Given the description of an element on the screen output the (x, y) to click on. 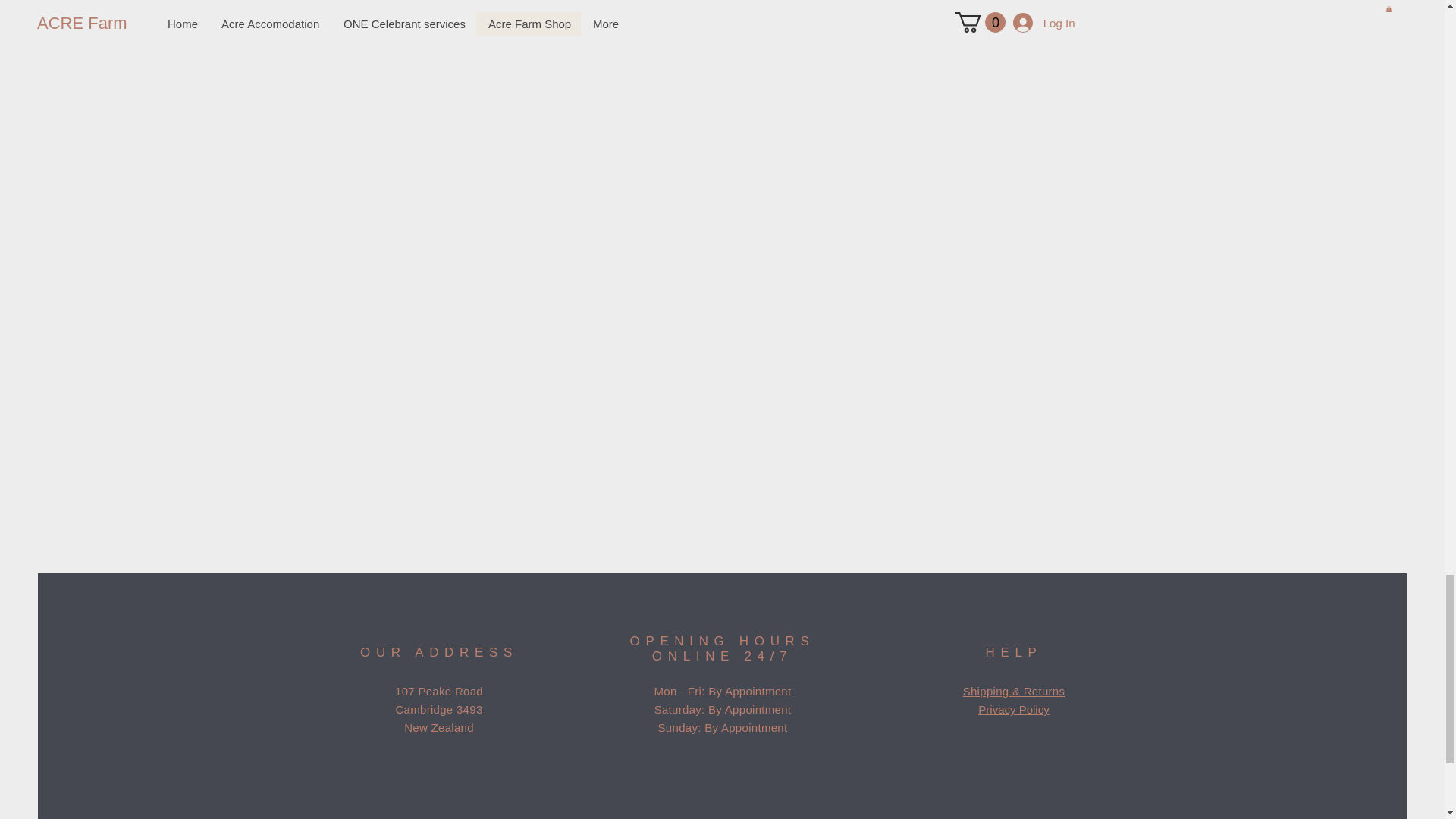
Google Maps (721, 799)
